Given the description of an element on the screen output the (x, y) to click on. 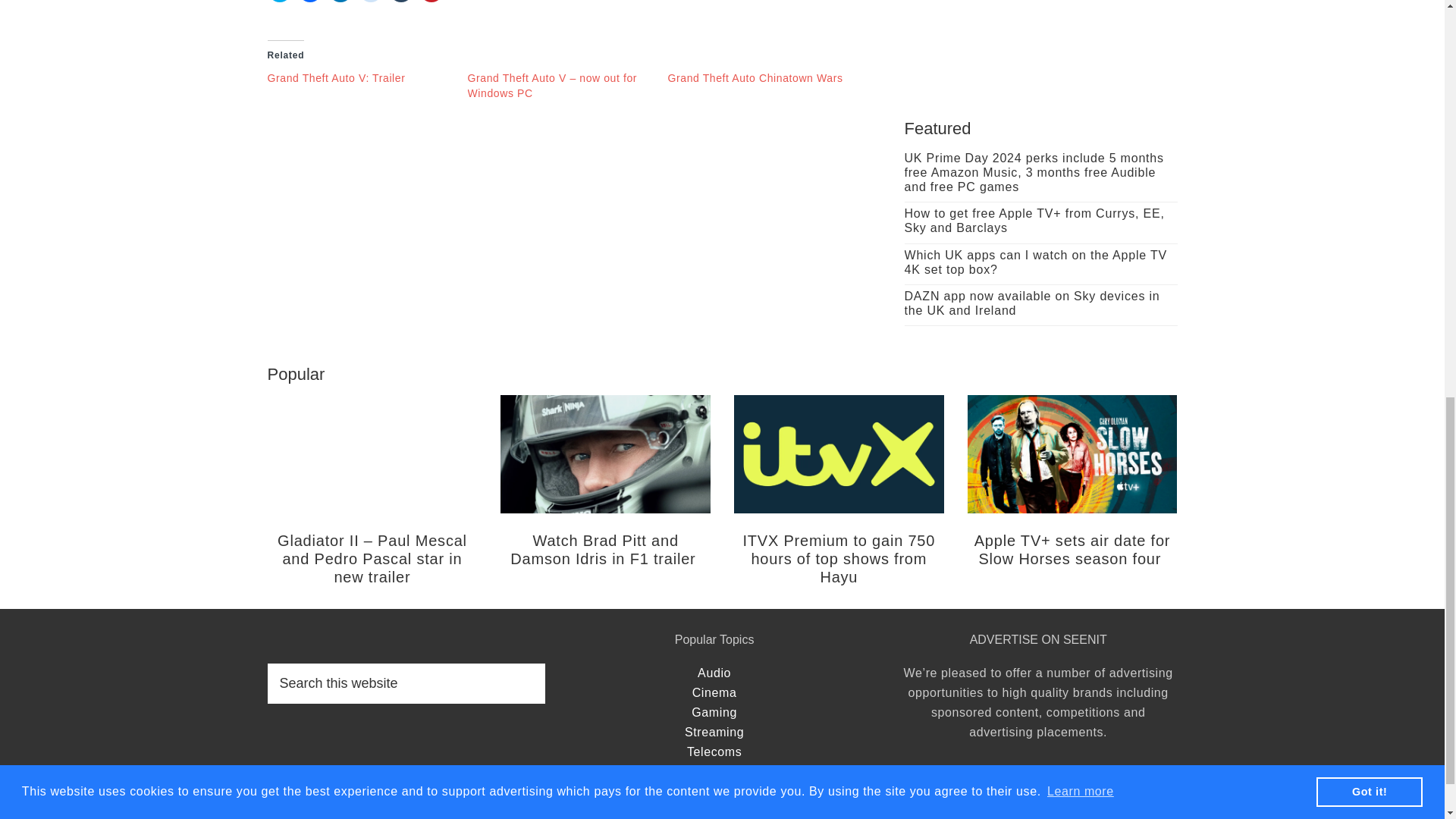
Advertisement (1040, 37)
Click to share on Tumblr (400, 1)
Cinema (714, 692)
Click to share on LinkedIn (339, 1)
Grand Theft Auto V: Trailer (335, 78)
ITVX Premium to gain 750 hours of top shows from Hayu (838, 558)
Grand Theft Auto Chinatown Wars (754, 78)
Click to share on Reddit (369, 1)
Grand Theft Auto V: Trailer (335, 78)
Watch Brad Pitt and Damson Idris in F1 trailer  (605, 549)
